Given the description of an element on the screen output the (x, y) to click on. 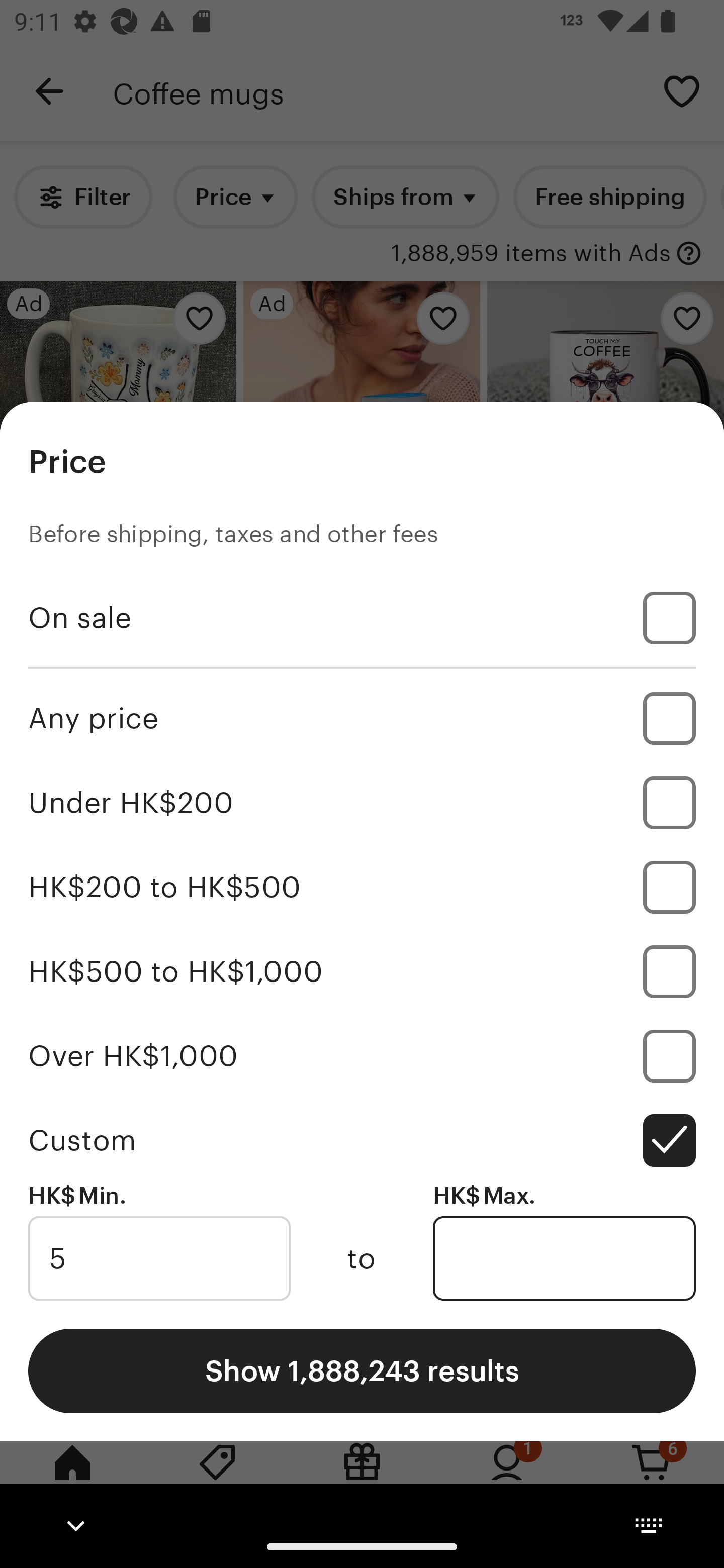
On sale (362, 617)
Any price (362, 717)
Under HK$200 (362, 802)
HK$200 to HK$500 (362, 887)
HK$500 to HK$1,000 (362, 970)
Over HK$1,000 (362, 1054)
Custom (362, 1139)
5 (159, 1257)
Show 1,888,243 results (361, 1370)
